Given the description of an element on the screen output the (x, y) to click on. 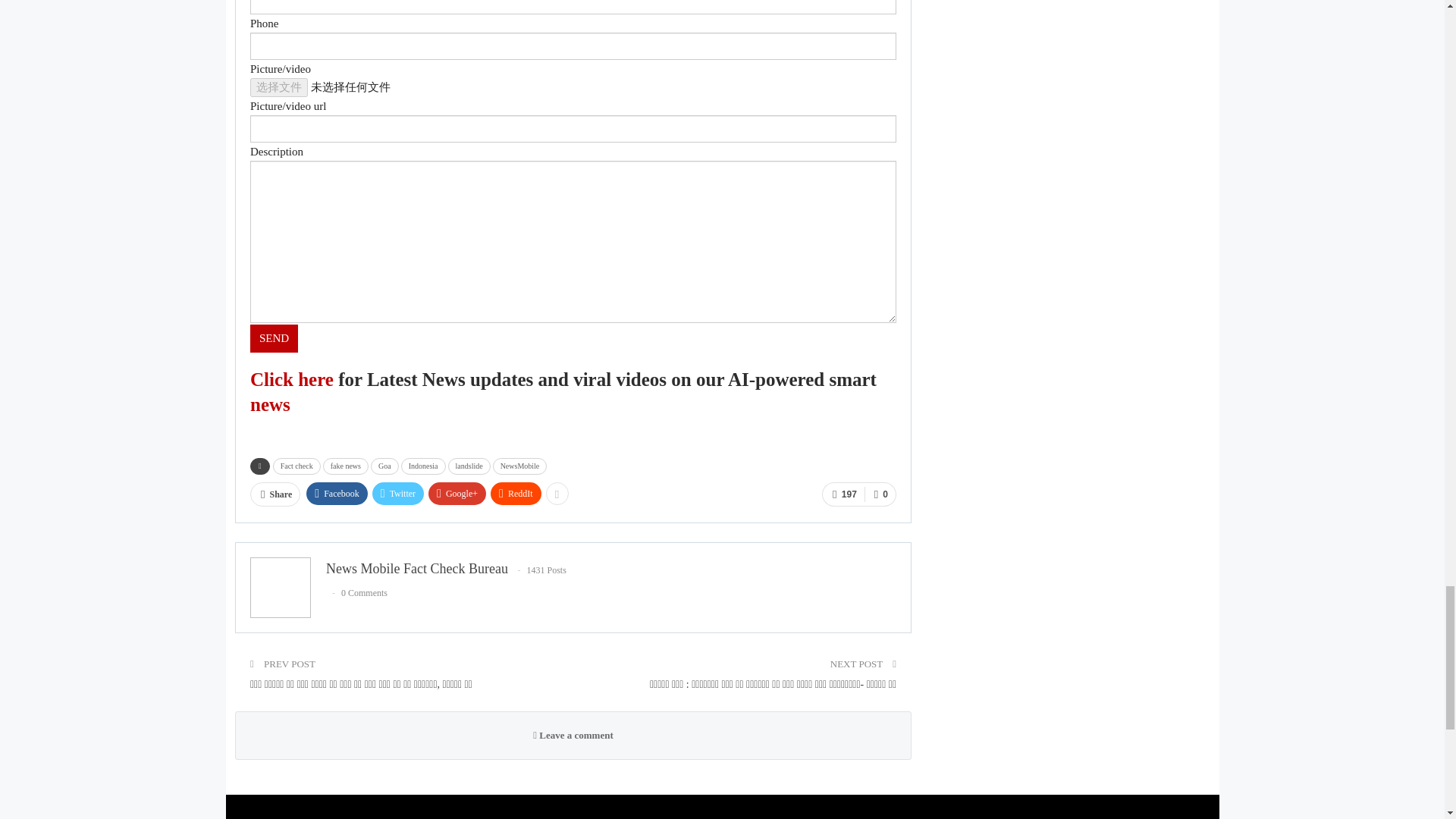
Send (274, 338)
